Given the description of an element on the screen output the (x, y) to click on. 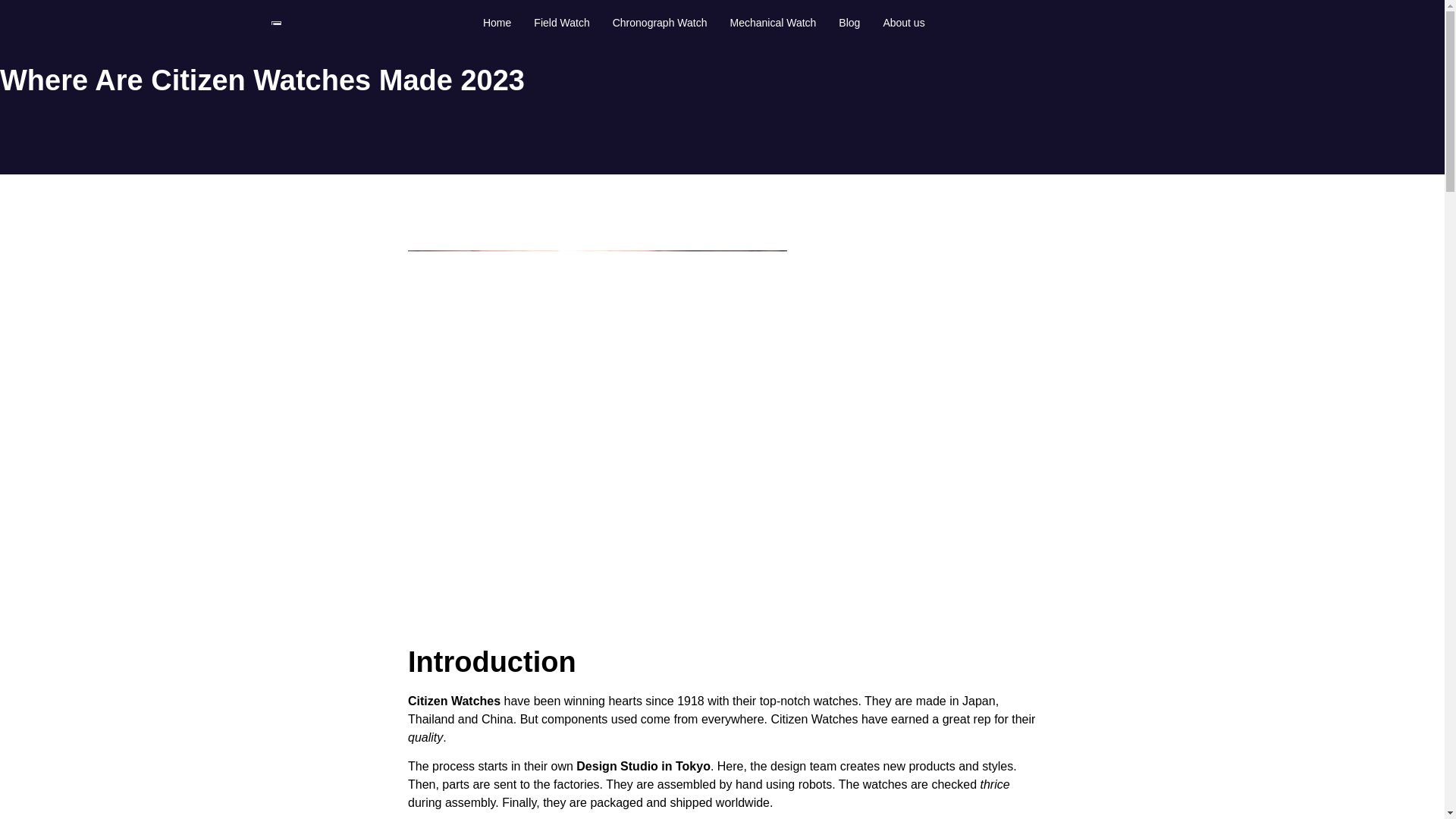
Field Watch (560, 22)
Mechanical Watch (773, 22)
About us (903, 22)
Chronograph Watch (660, 22)
Blog (848, 22)
Home (496, 22)
